Given the description of an element on the screen output the (x, y) to click on. 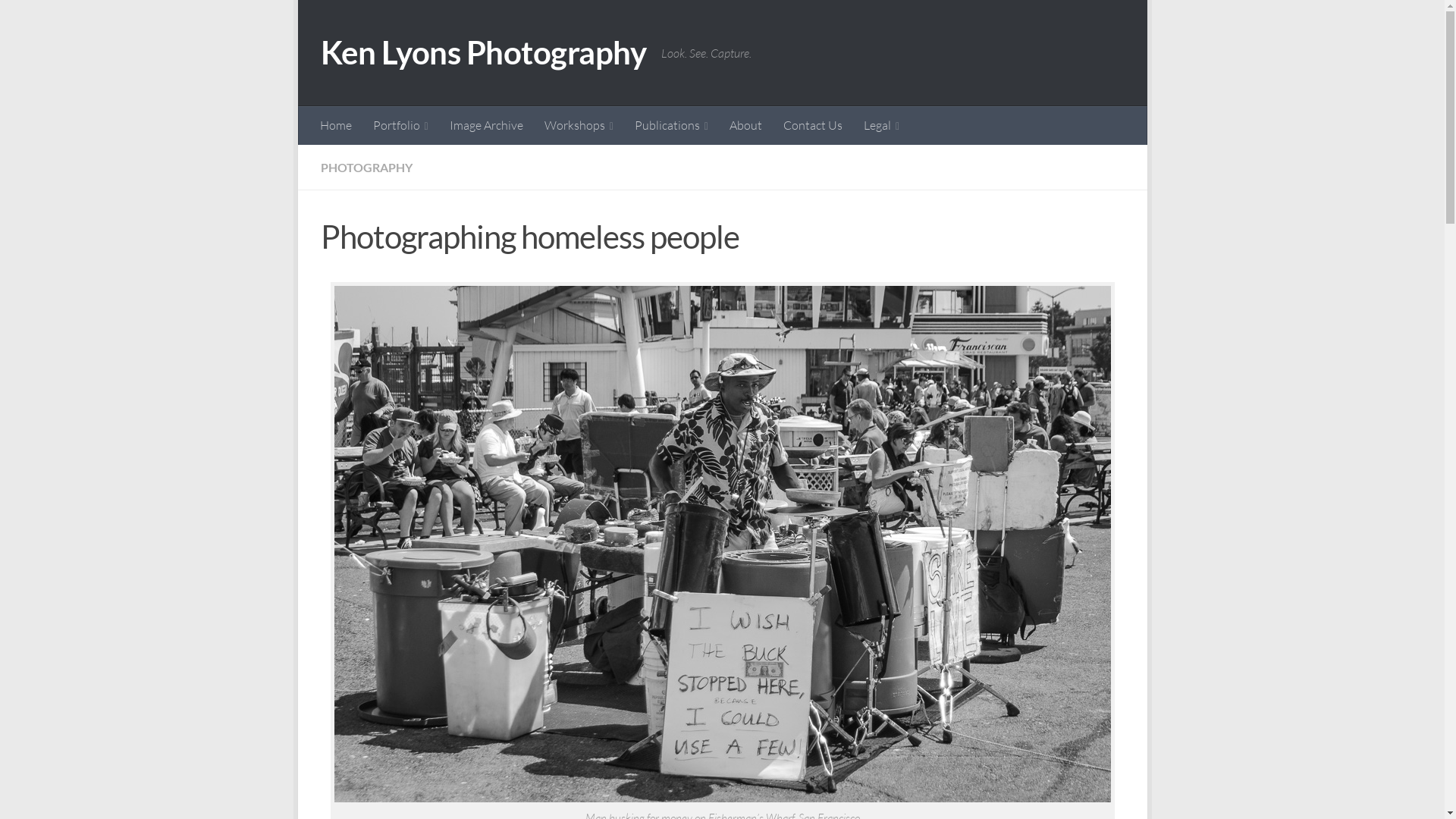
Portfolio Element type: text (400, 125)
Ken Lyons Photography Element type: text (483, 52)
Skip to content Element type: text (358, 21)
Image Archive Element type: text (486, 125)
Contact Us Element type: text (812, 125)
Legal Element type: text (881, 125)
Publications Element type: text (671, 125)
PHOTOGRAPHY Element type: text (365, 167)
Home Element type: text (335, 125)
About Element type: text (745, 125)
Workshops Element type: text (578, 125)
